Given the description of an element on the screen output the (x, y) to click on. 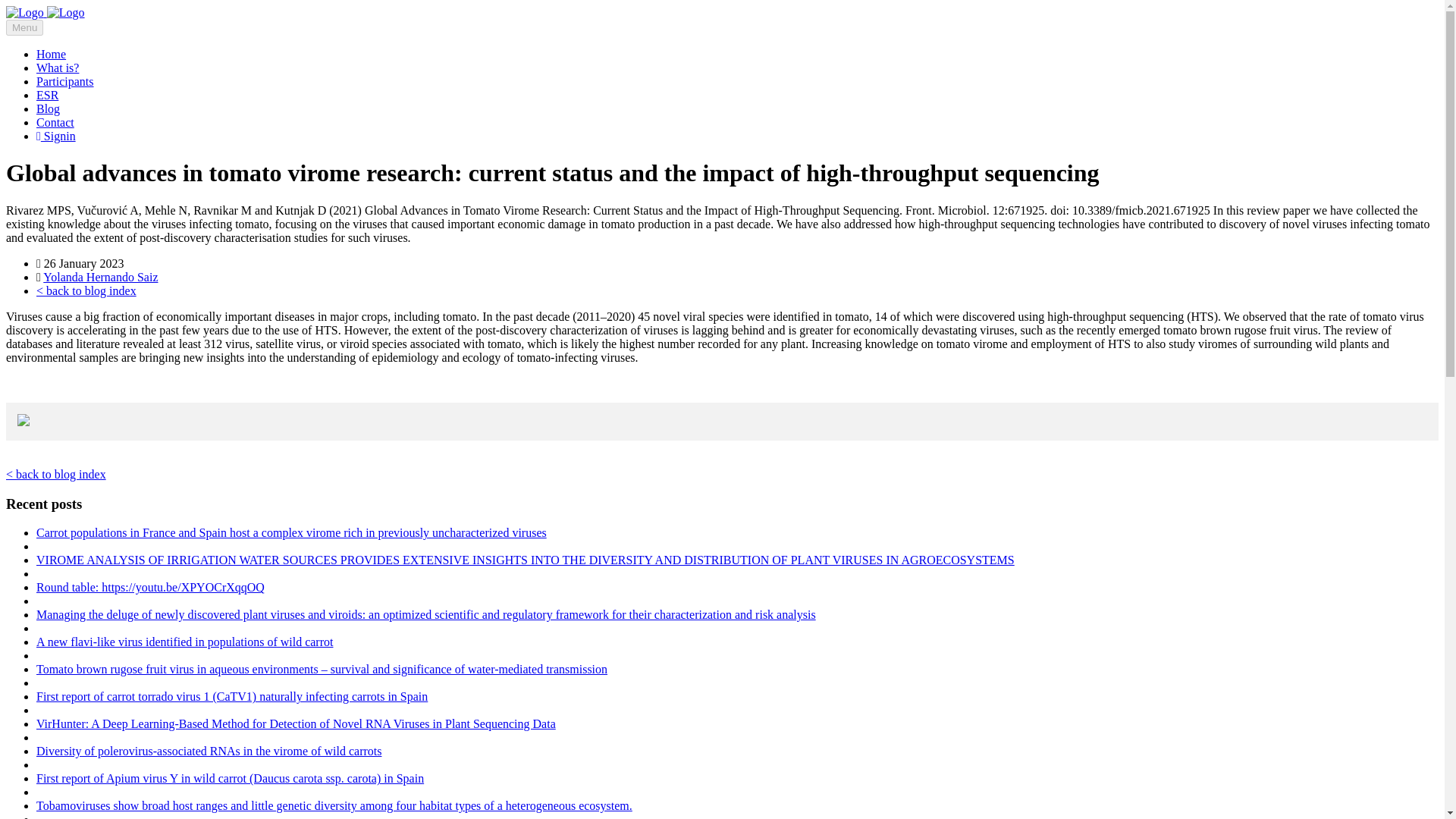
Menu (24, 27)
Yolanda Hernando Saiz (100, 277)
Home (50, 53)
Contact (55, 122)
Blog (47, 108)
What is? (57, 67)
